Given the description of an element on the screen output the (x, y) to click on. 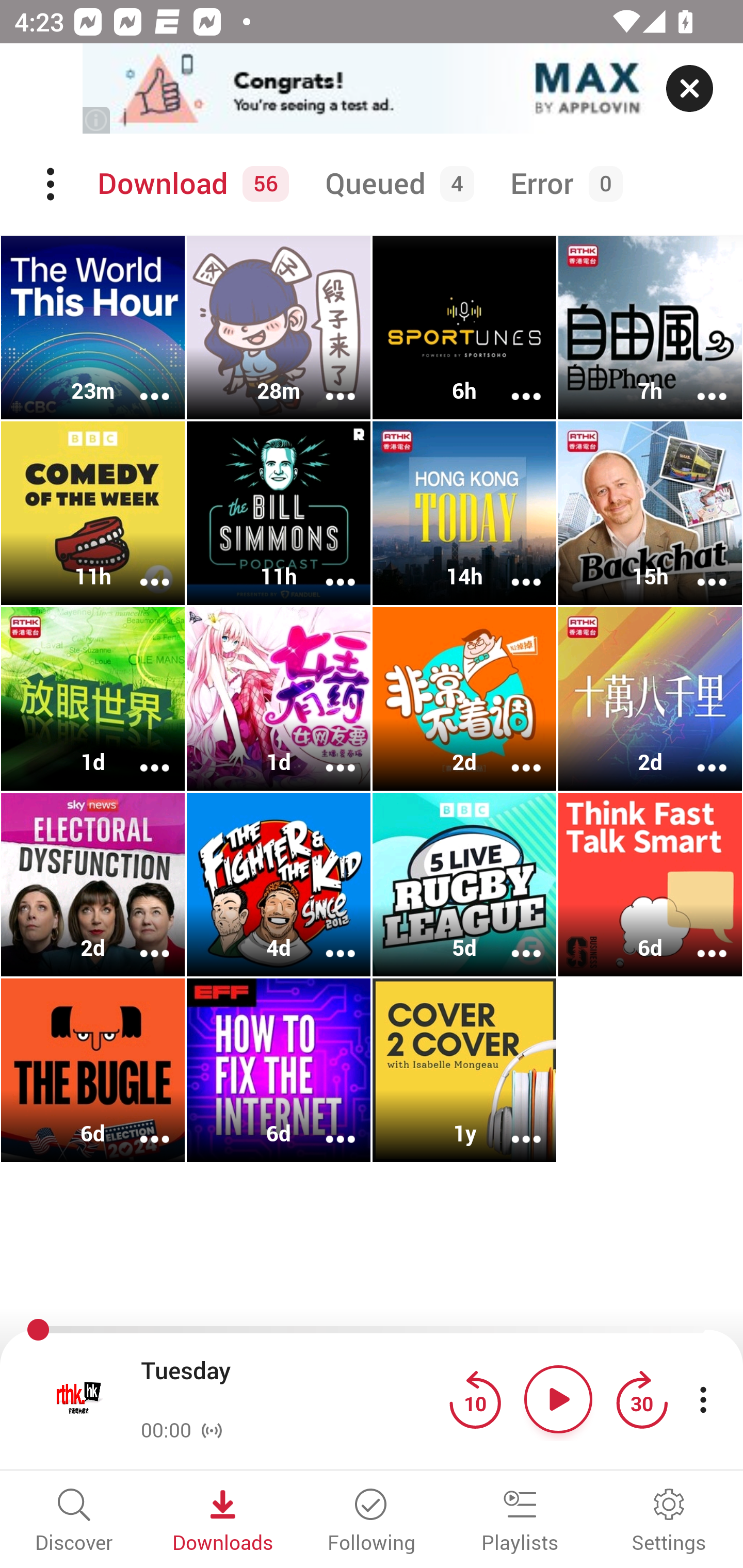
app-monetization (371, 88)
(i) (96, 119)
Menu (52, 184)
 Download 56 (189, 184)
 Queued 4 (396, 184)
 Error 0 (562, 184)
The World This Hour 23m More options More options (92, 327)
段子来了 28m More options More options (278, 327)
Sportunes HK 6h More options More options (464, 327)
自由风自由PHONE 7h More options More options (650, 327)
More options (141, 382)
More options (326, 382)
More options (512, 382)
More options (698, 382)
Comedy of the Week 11h More options More options (92, 513)
Hong Kong Today 14h More options More options (464, 513)
Backchat 15h More options More options (650, 513)
More options (141, 569)
More options (326, 569)
More options (512, 569)
More options (698, 569)
放眼世界 1d More options More options (92, 698)
女王有药丨爆笑脱口秀 1d More options More options (278, 698)
非常不着调 2d More options More options (464, 698)
十萬八千里 2d More options More options (650, 698)
More options (141, 754)
More options (326, 754)
More options (512, 754)
More options (698, 754)
Electoral Dysfunction 2d More options More options (92, 883)
The Fighter & The Kid 4d More options More options (278, 883)
5 Live Rugby League 5d More options More options (464, 883)
More options (141, 940)
More options (326, 940)
More options (512, 940)
More options (698, 940)
The Bugle 6d More options More options (92, 1069)
Cover 2 Cover 1y More options More options (464, 1069)
More options (141, 1125)
More options (326, 1125)
More options (512, 1125)
Open fullscreen player (79, 1399)
More player controls (703, 1399)
Tuesday (290, 1385)
Play button (558, 1398)
Jump back (475, 1399)
Jump forward (641, 1399)
Discover (74, 1521)
Downloads (222, 1521)
Following (371, 1521)
Playlists (519, 1521)
Settings (668, 1521)
